Given the description of an element on the screen output the (x, y) to click on. 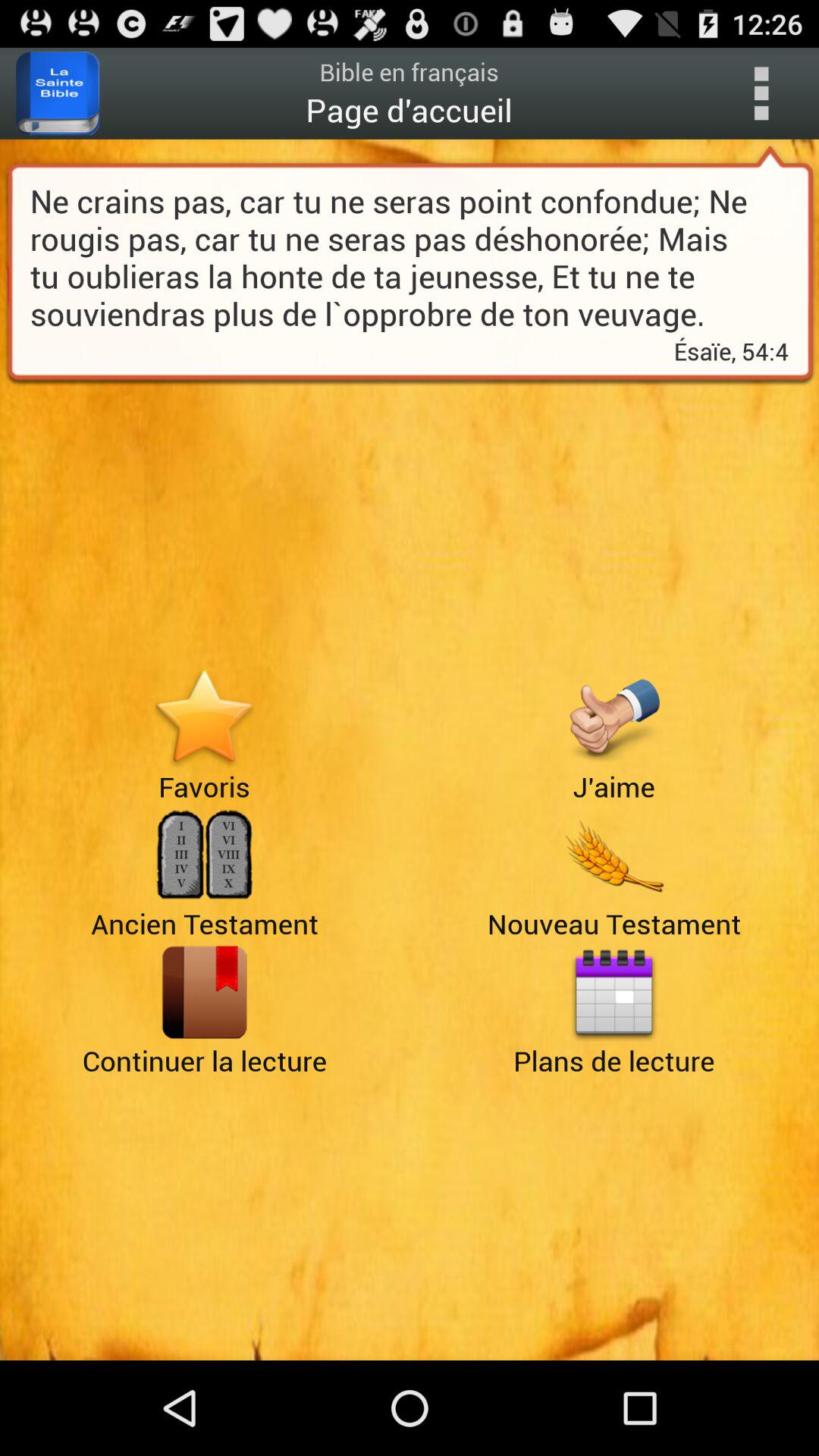
view calendar (613, 991)
